Given the description of an element on the screen output the (x, y) to click on. 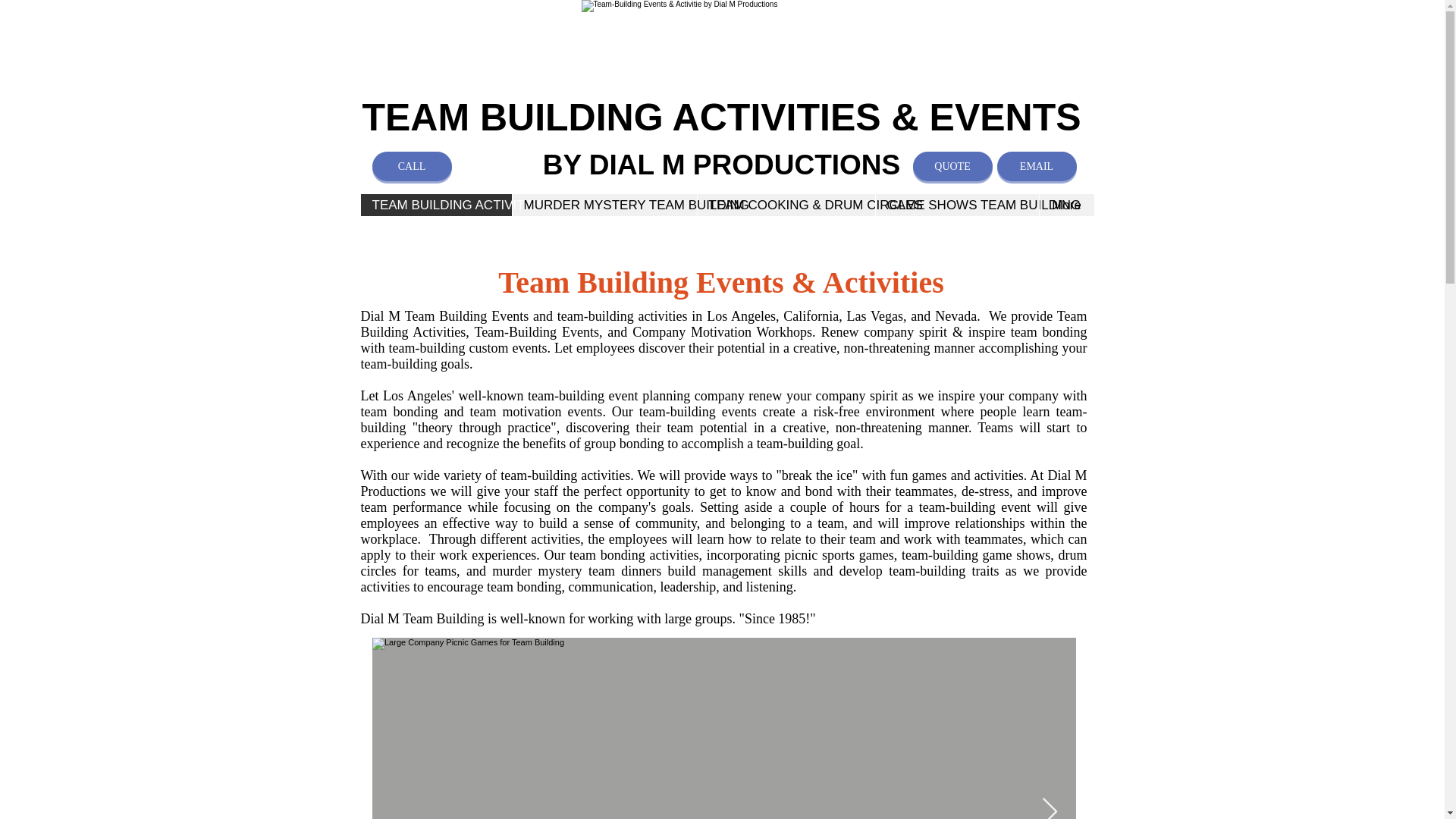
TEAM BUILDING ACTIVITIES (436, 205)
BY DIAL M PRODUCTIONS (721, 164)
CALL (411, 165)
EMAIL (1035, 165)
GAME SHOWS TEAM BUILDING (957, 205)
QUOTE (952, 165)
MURDER MYSTERY TEAM BUILDING (603, 205)
